Given the description of an element on the screen output the (x, y) to click on. 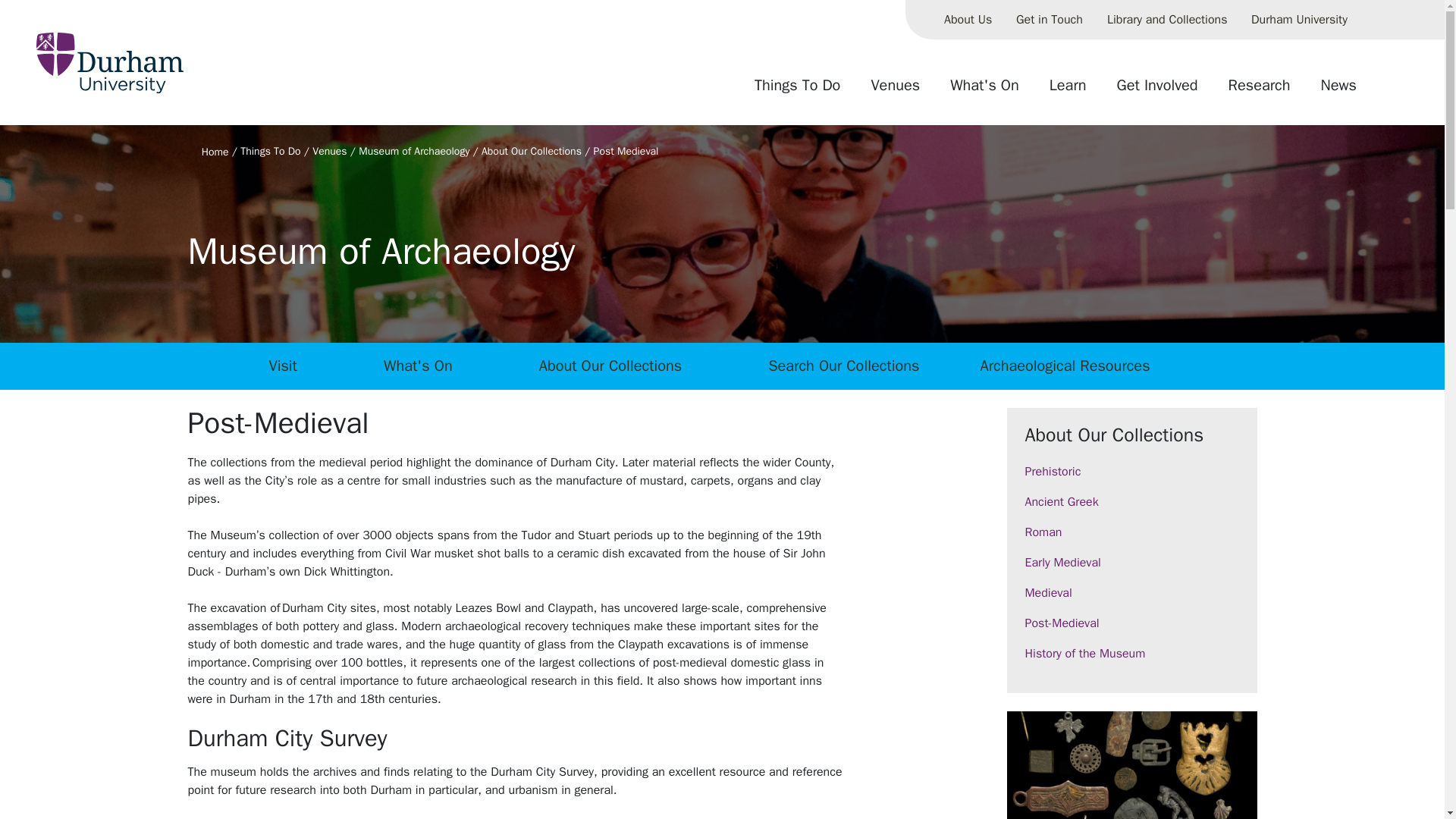
Library and Collections (1166, 19)
Research (1259, 91)
Venues (895, 91)
Collapse (1371, 19)
Search (1387, 91)
News (1337, 91)
What's On (983, 91)
Get Involved (1157, 91)
Get in Touch (1049, 19)
Learn (1067, 91)
Things To Do (796, 91)
Durham University (1299, 19)
About Us (967, 19)
